Given the description of an element on the screen output the (x, y) to click on. 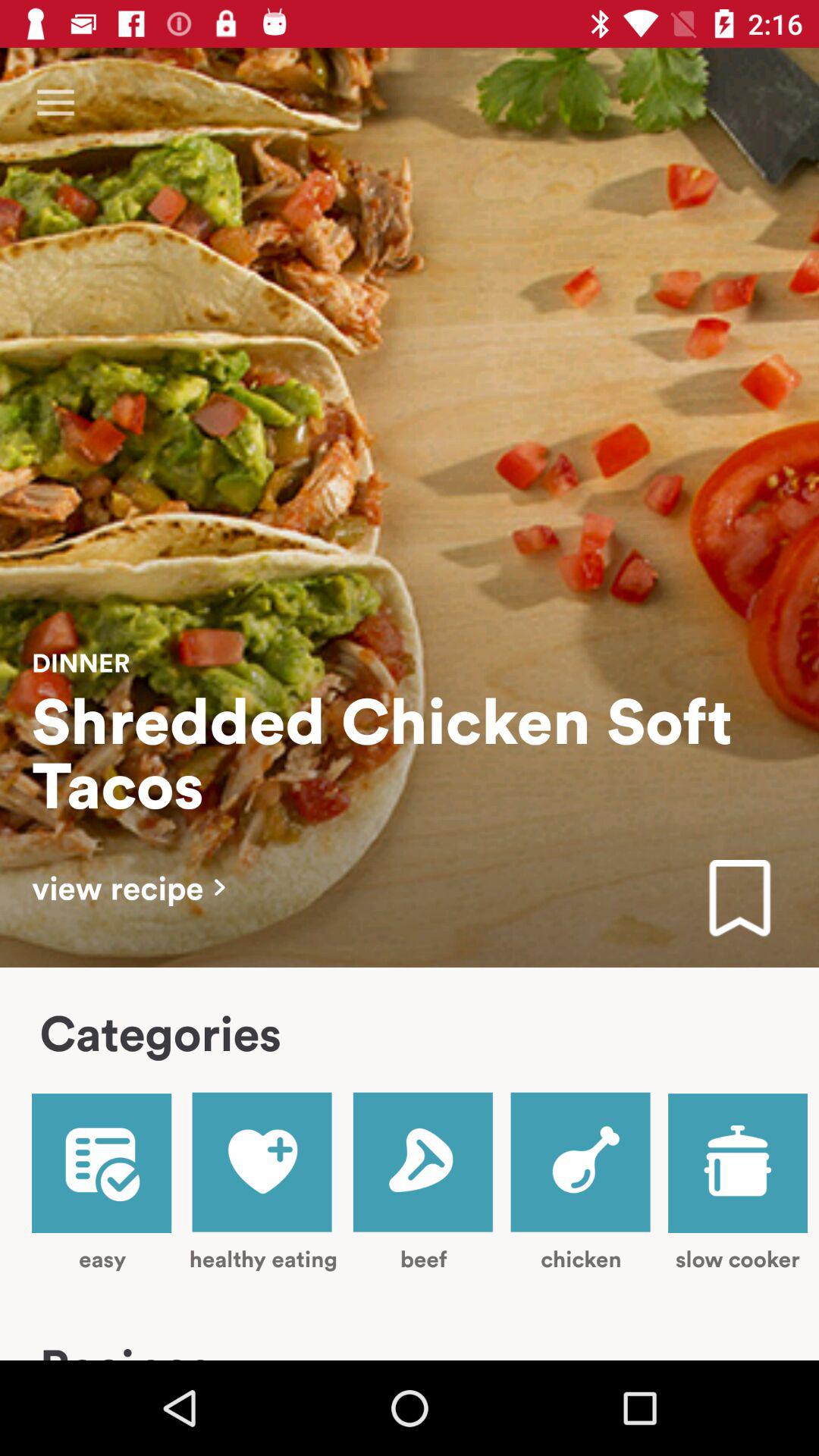
turn off item next to easy item (263, 1181)
